Given the description of an element on the screen output the (x, y) to click on. 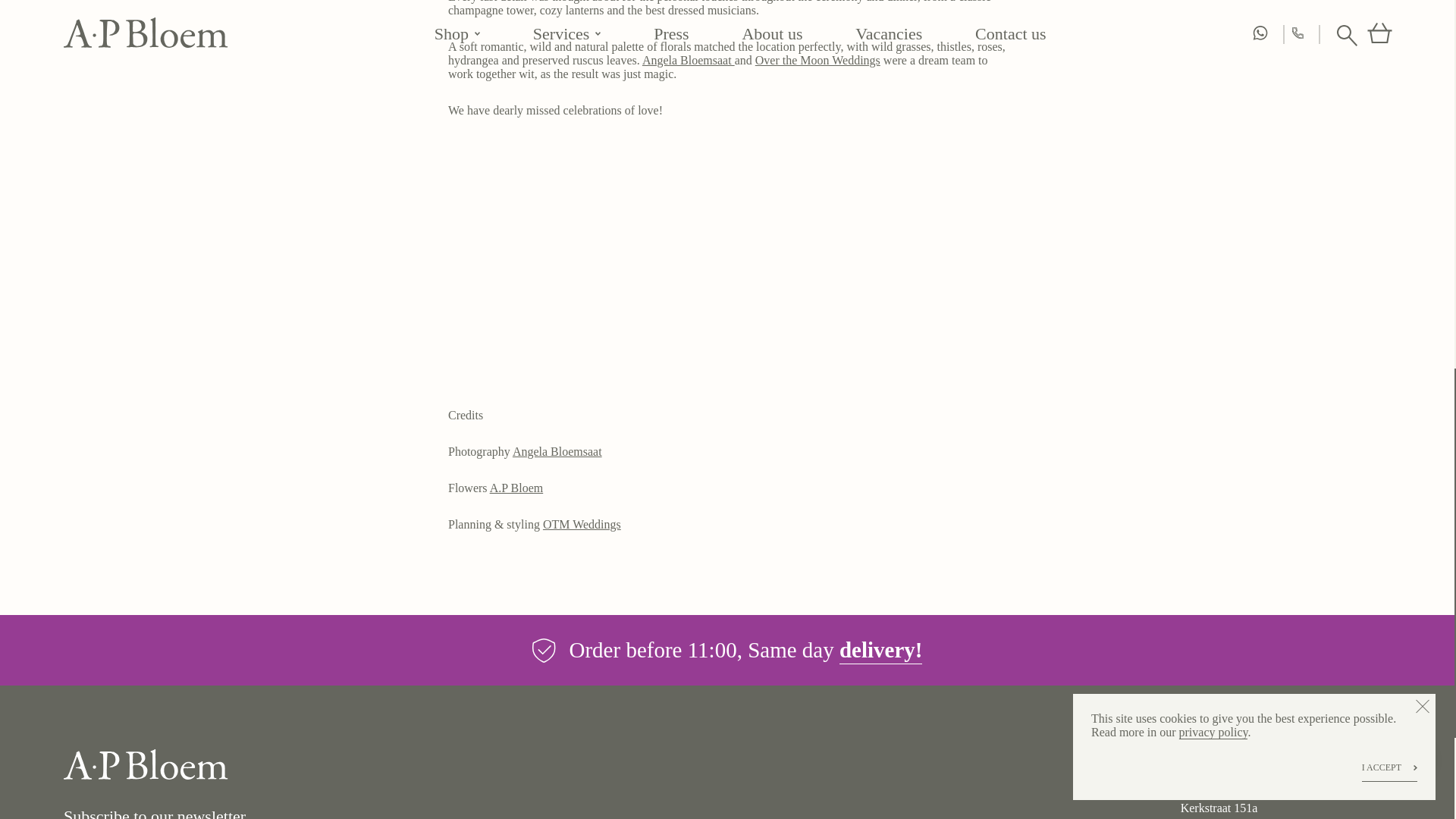
OTM Weddings (582, 523)
Over the Moon Weddings (817, 60)
whatsapp (1232, 756)
Angela Bloemsaat (688, 60)
Angela Bloemsaat (557, 451)
Phone (1238, 783)
A.P Bloem (516, 487)
